Given the description of an element on the screen output the (x, y) to click on. 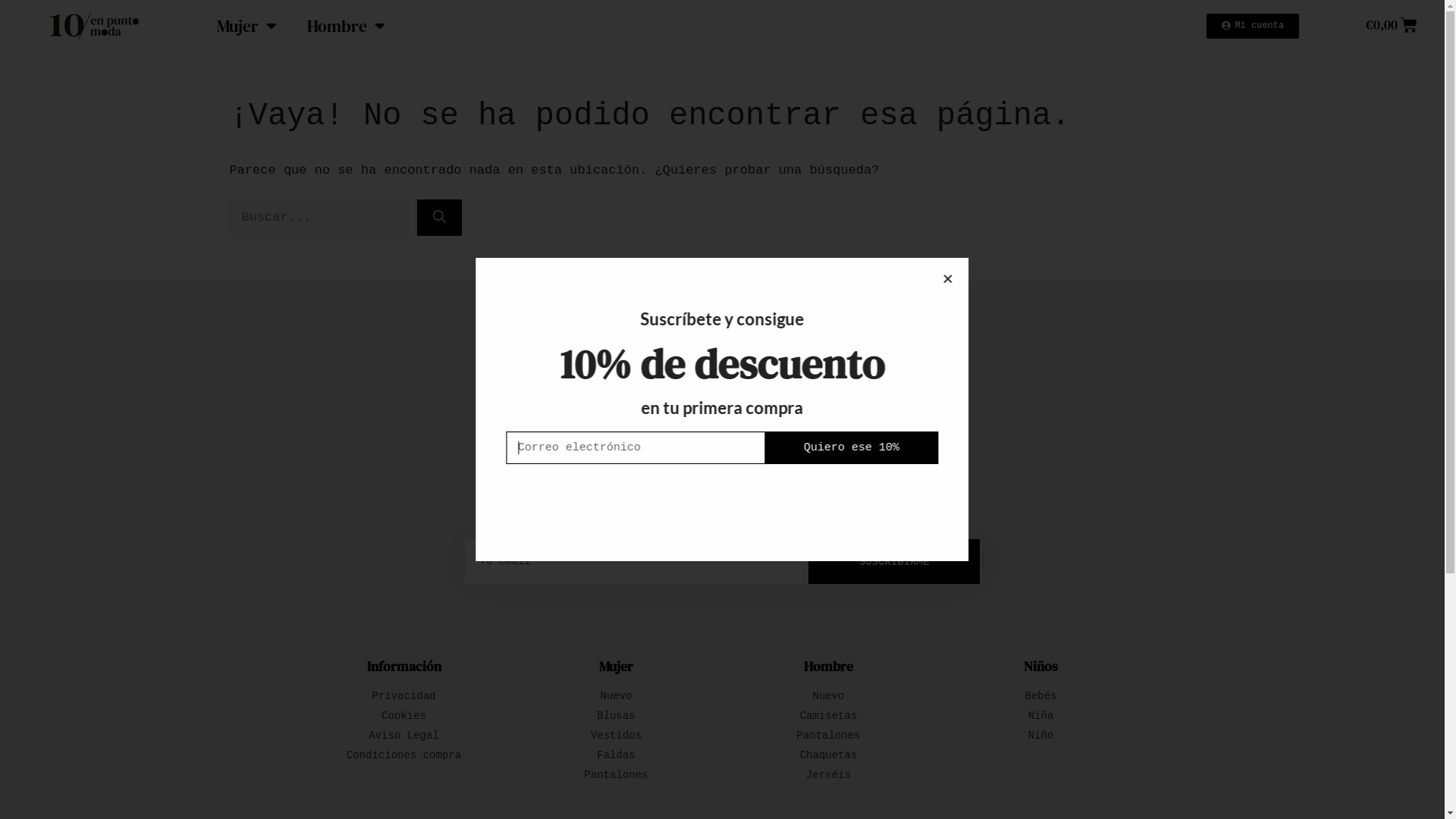
Privacidad Element type: text (403, 696)
SUSCRIBIRME Element type: text (894, 561)
Pantalones Element type: text (827, 735)
Faldas Element type: text (615, 755)
Chaquetas Element type: text (827, 755)
Aviso Legal Element type: text (403, 735)
Blusas Element type: text (615, 716)
Vestidos Element type: text (615, 735)
Camisetas Element type: text (827, 716)
Hombre Element type: text (345, 25)
Mujer Element type: text (246, 25)
Condiciones compra Element type: text (403, 755)
Buscar: Element type: hover (318, 217)
Pantalones Element type: text (615, 775)
Cookies Element type: text (403, 716)
Hombre Element type: text (828, 665)
Mi cuenta Element type: text (1252, 25)
Mujer Element type: text (616, 665)
